Given the description of an element on the screen output the (x, y) to click on. 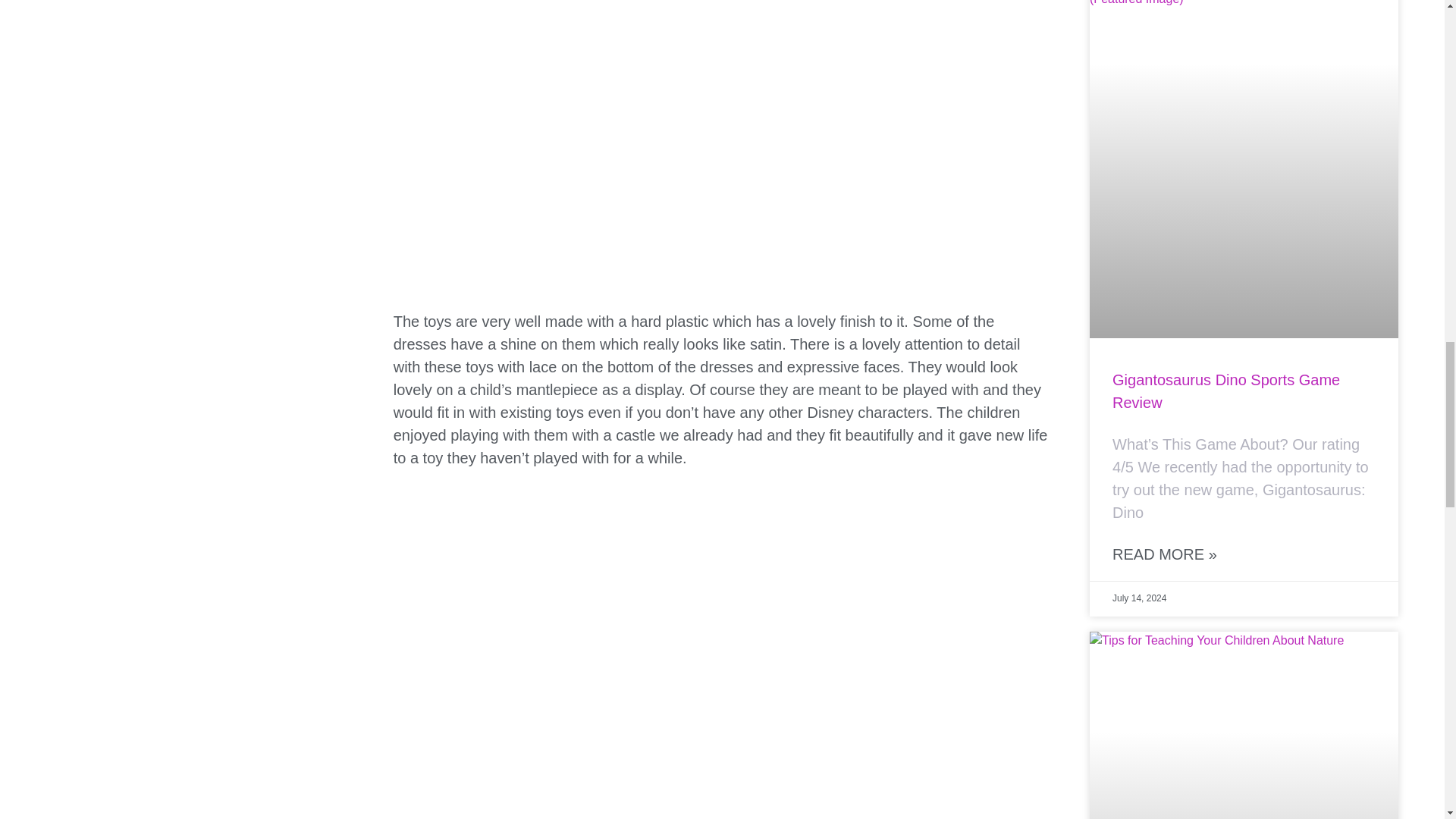
Gigantosaurus Dino Sports Game Review (1225, 391)
